Given the description of an element on the screen output the (x, y) to click on. 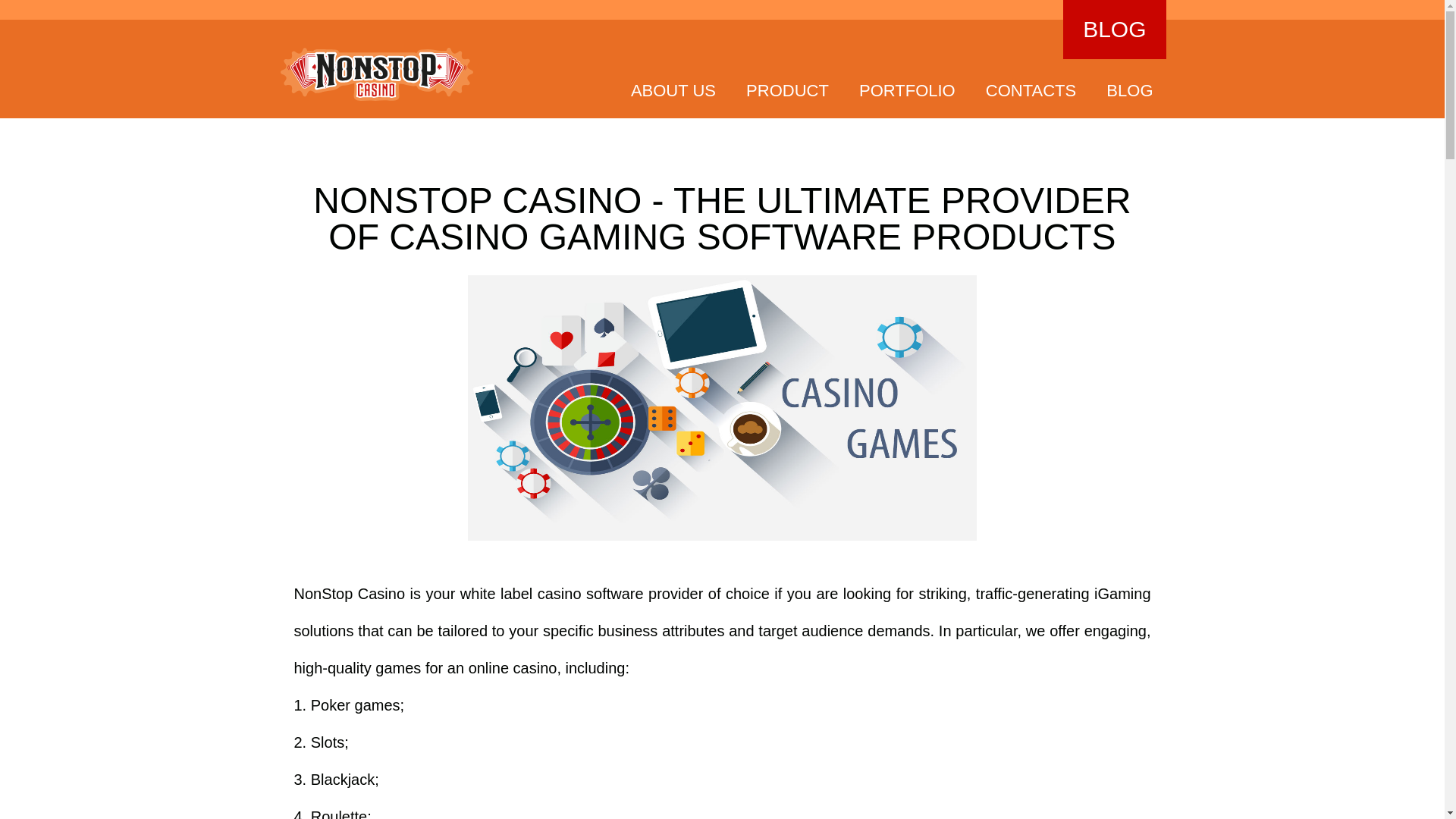
BLOG (1114, 29)
BLOG (1129, 90)
PRODUCT (786, 90)
PORTFOLIO (907, 90)
ABOUT US (673, 90)
CONTACTS (1030, 90)
